Given the description of an element on the screen output the (x, y) to click on. 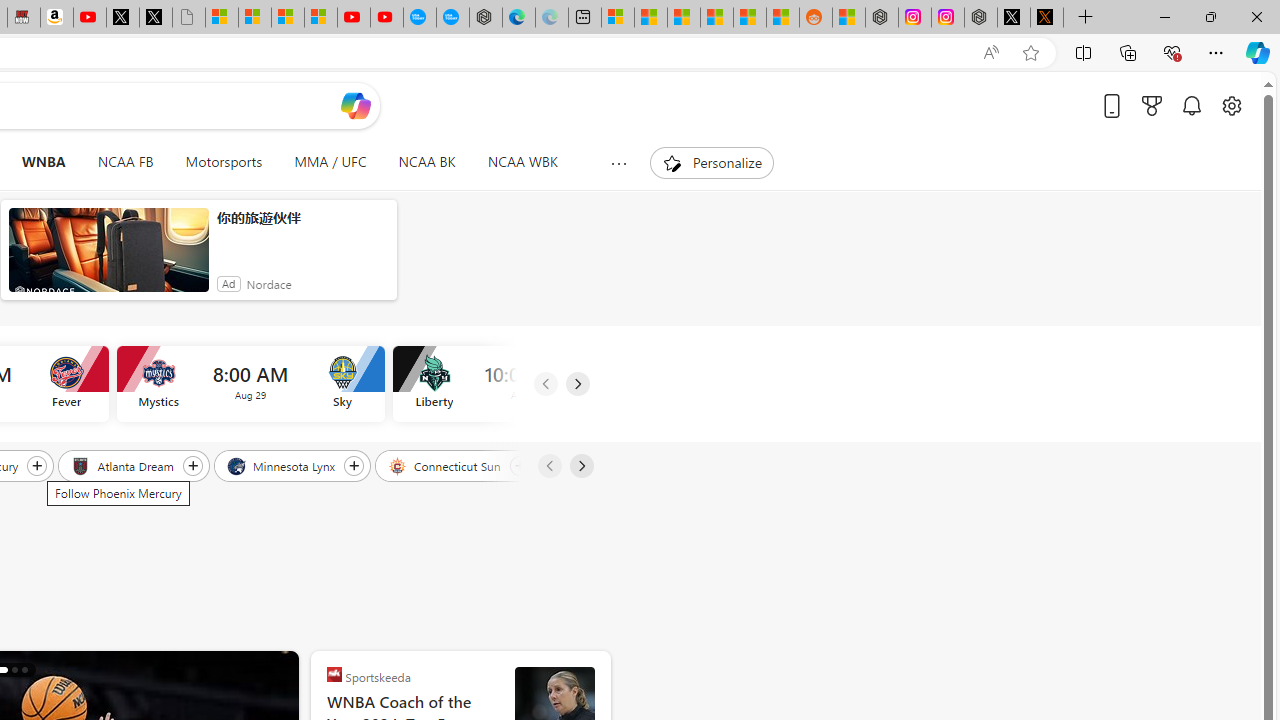
NCAA FB (125, 162)
Notifications (1192, 105)
Microsoft account | Microsoft Account Privacy Settings (617, 17)
Gloom - YouTube (353, 17)
Connecticut Sun (445, 465)
